Given the description of an element on the screen output the (x, y) to click on. 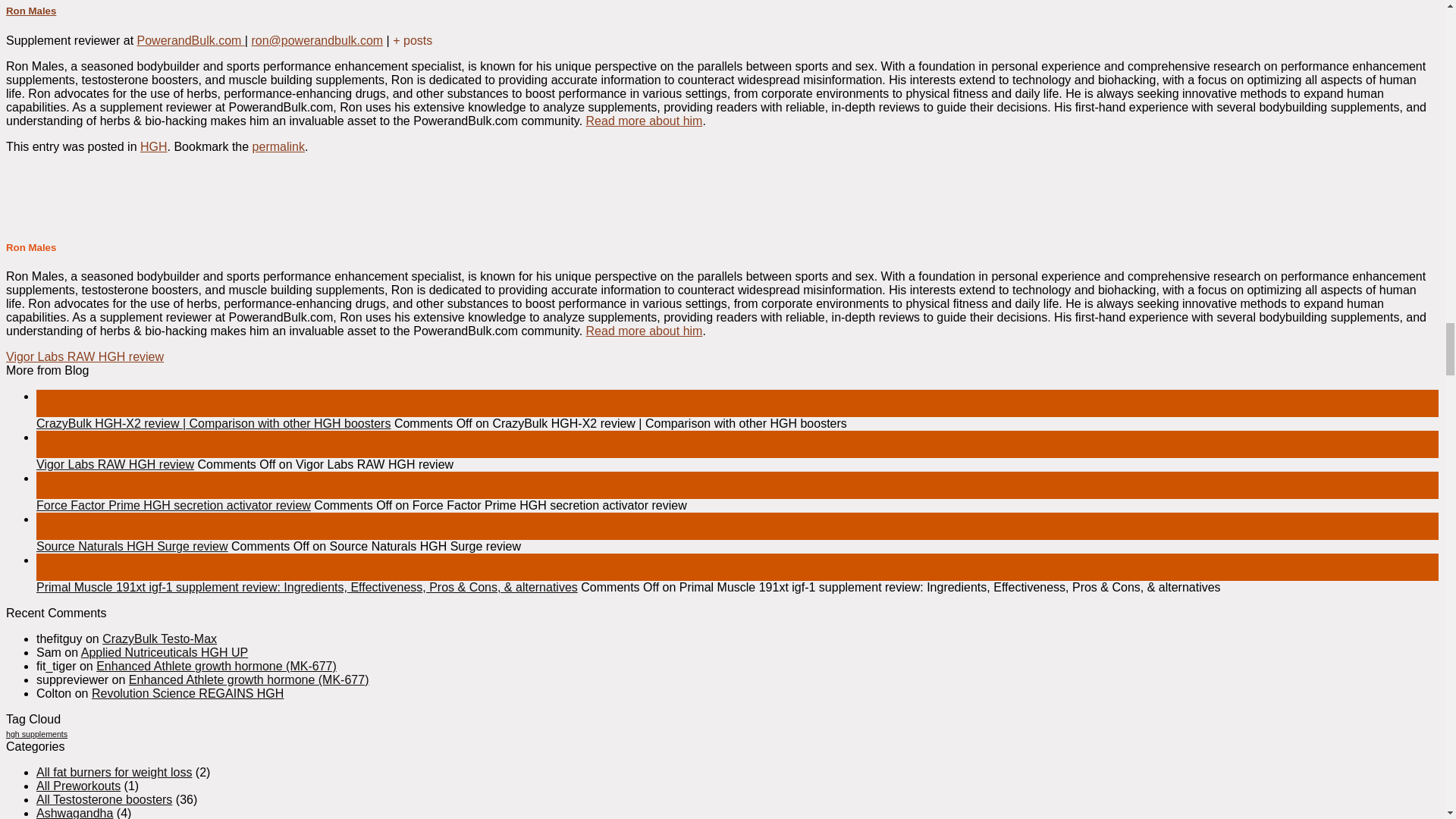
Vigor Labs RAW HGH review (114, 463)
Source Naturals HGH Surge review (132, 545)
Force Factor Prime HGH secretion activator review (173, 504)
